Given the description of an element on the screen output the (x, y) to click on. 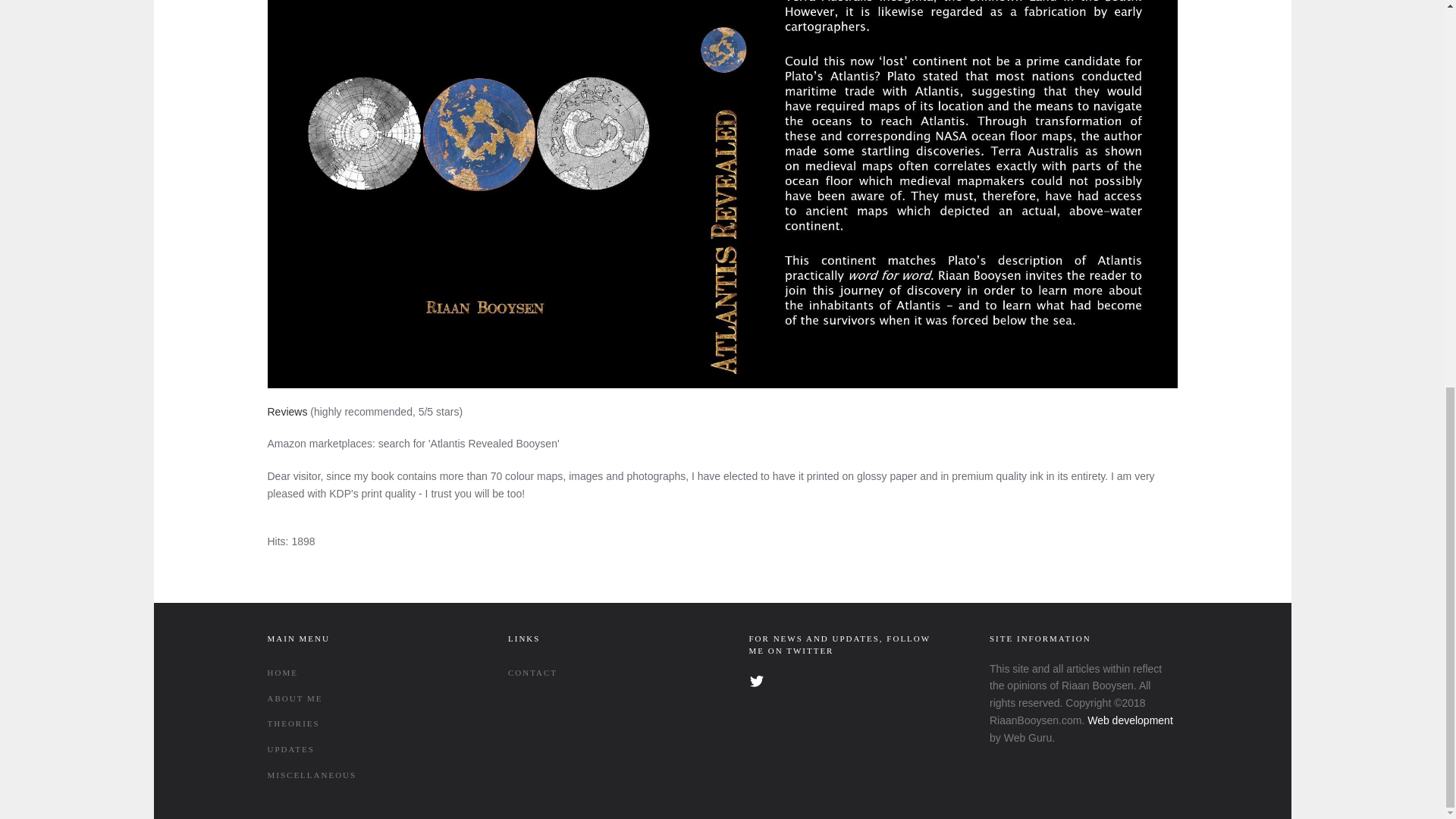
Web development (1130, 720)
MISCELLANEOUS (360, 775)
THEORIES (360, 724)
Reviews (286, 411)
ABOUT ME (360, 698)
CONTACT (601, 673)
UPDATES (360, 749)
HOME (360, 673)
